Given the description of an element on the screen output the (x, y) to click on. 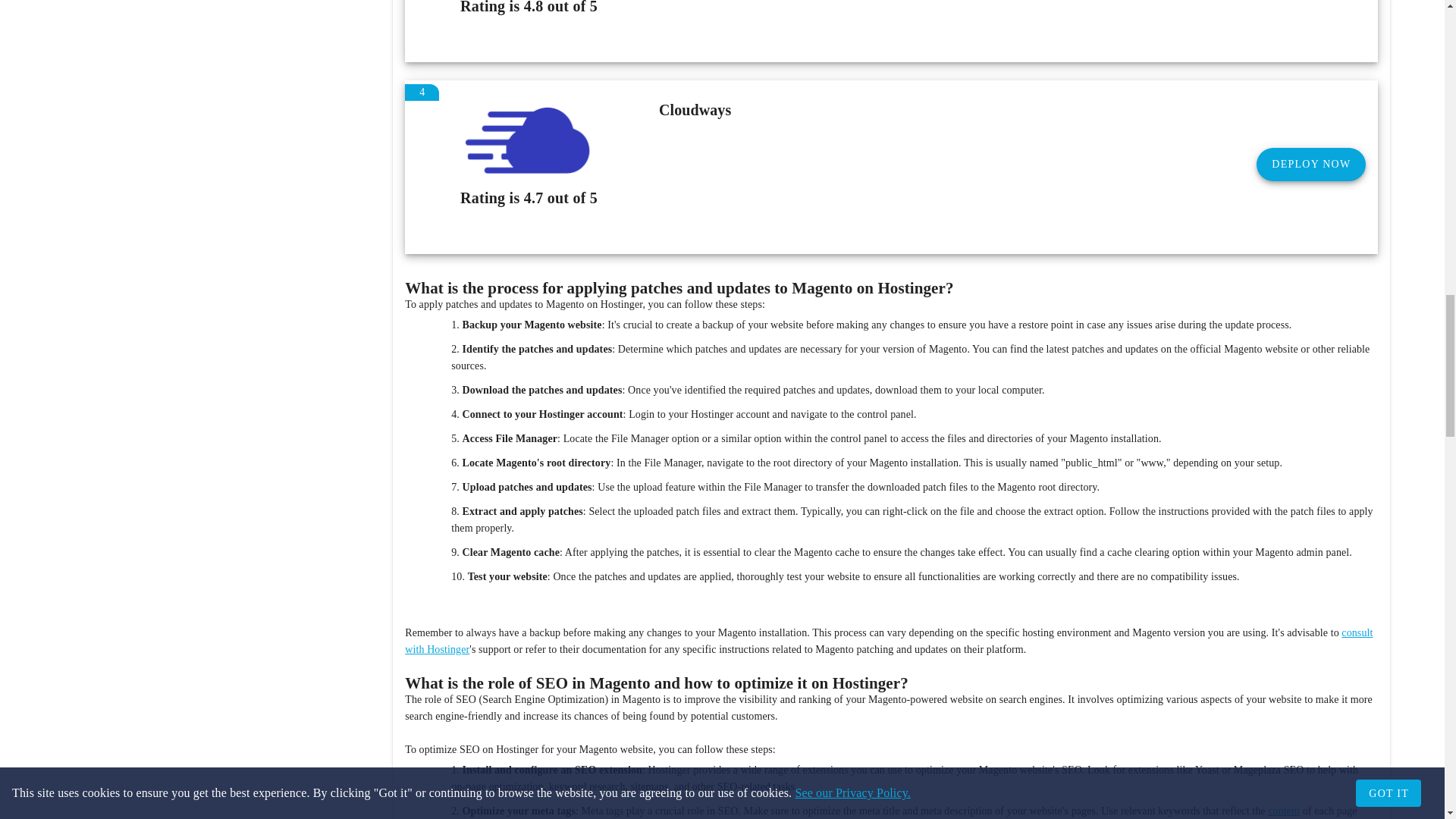
DEPLOY NOW (1310, 163)
